Given the description of an element on the screen output the (x, y) to click on. 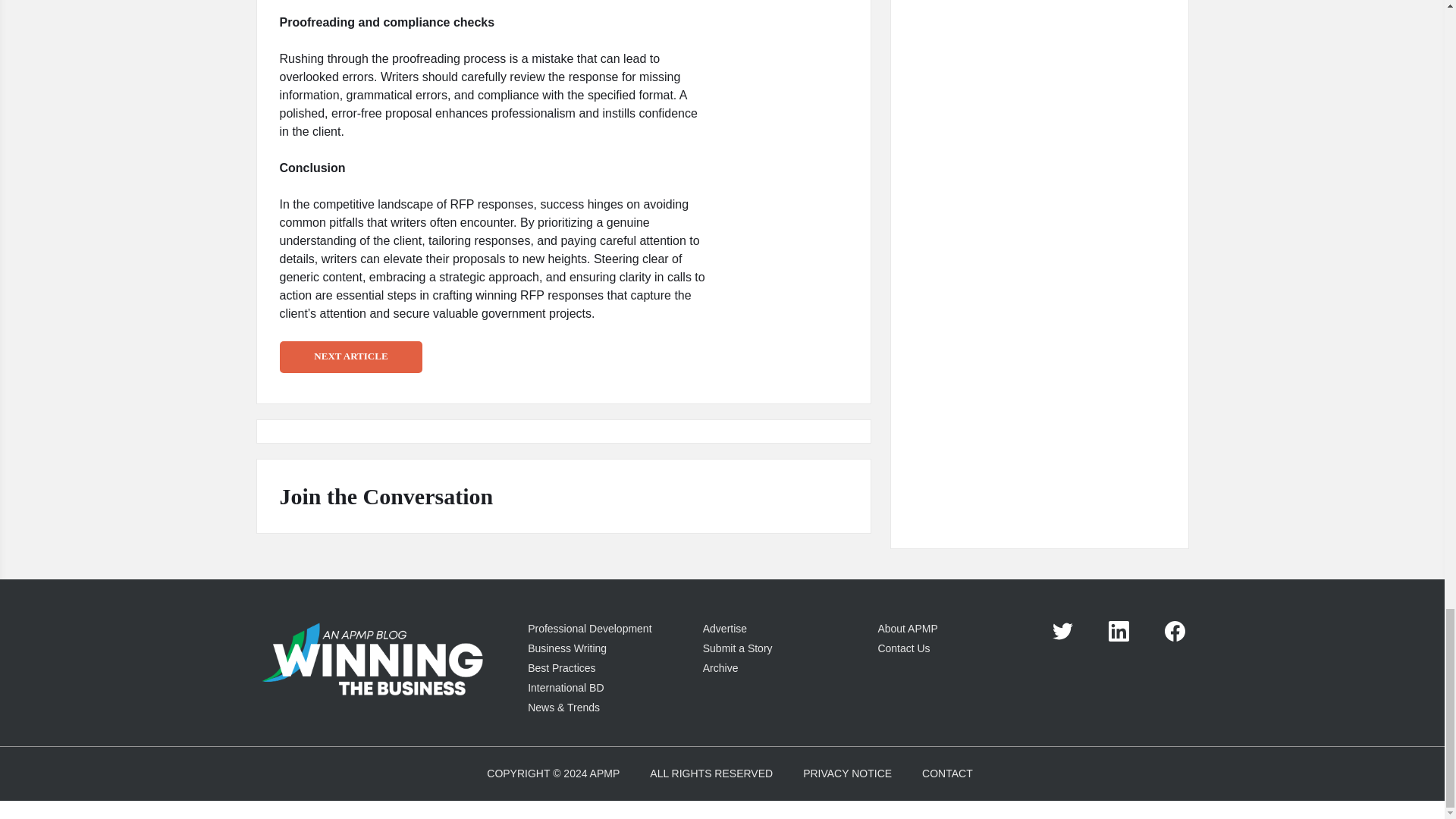
LinkedIn (1118, 630)
Facebook (1174, 630)
Twitter (1062, 630)
